Given the description of an element on the screen output the (x, y) to click on. 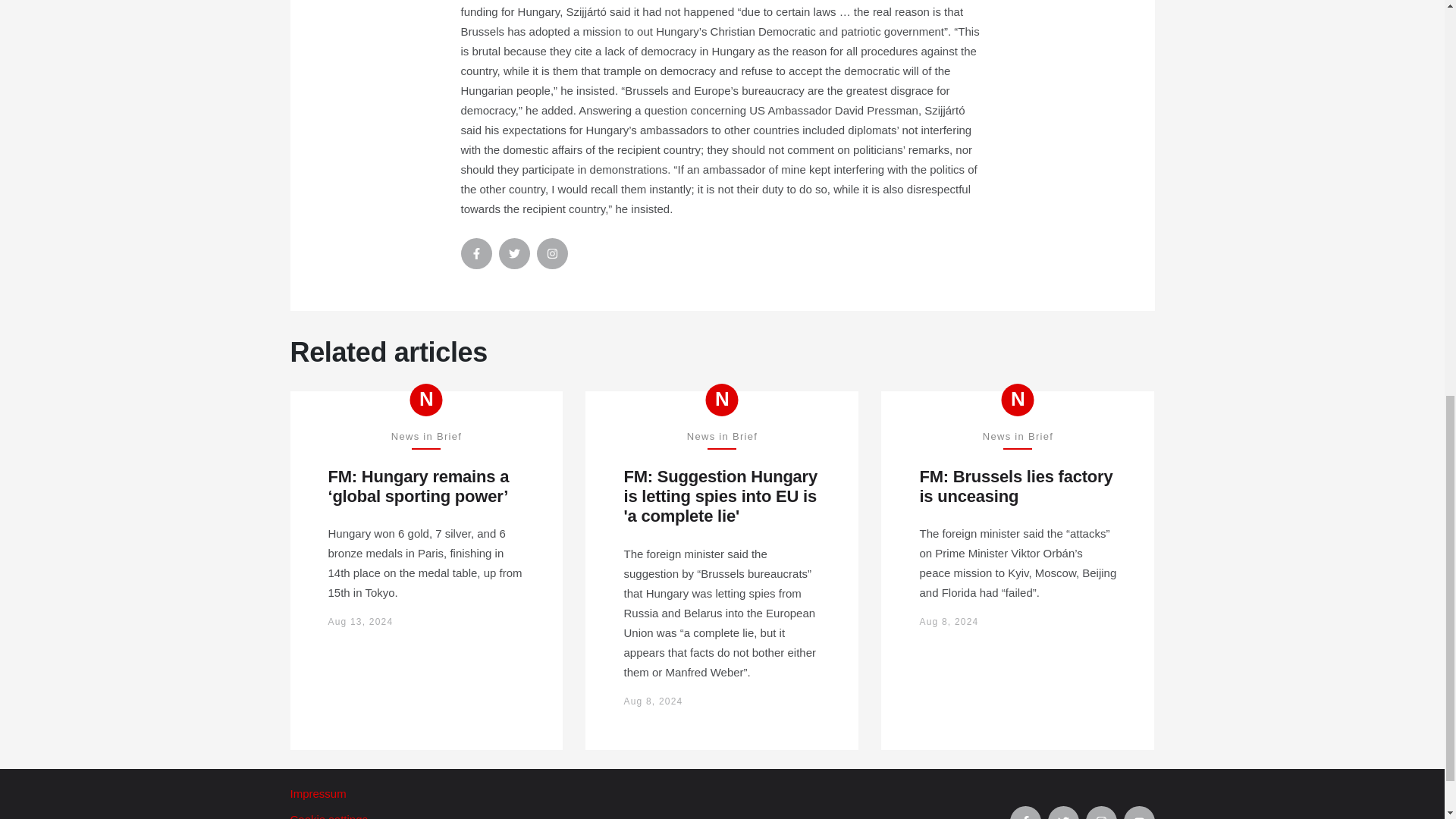
News in Brief (426, 400)
N (426, 400)
N (1017, 400)
Impressum (649, 794)
Instagram icon (552, 253)
Facebook icon (476, 253)
News in Brief (1017, 400)
FM: Brussels lies factory is unceasing (1017, 486)
Facebook icon (1025, 812)
